Given the description of an element on the screen output the (x, y) to click on. 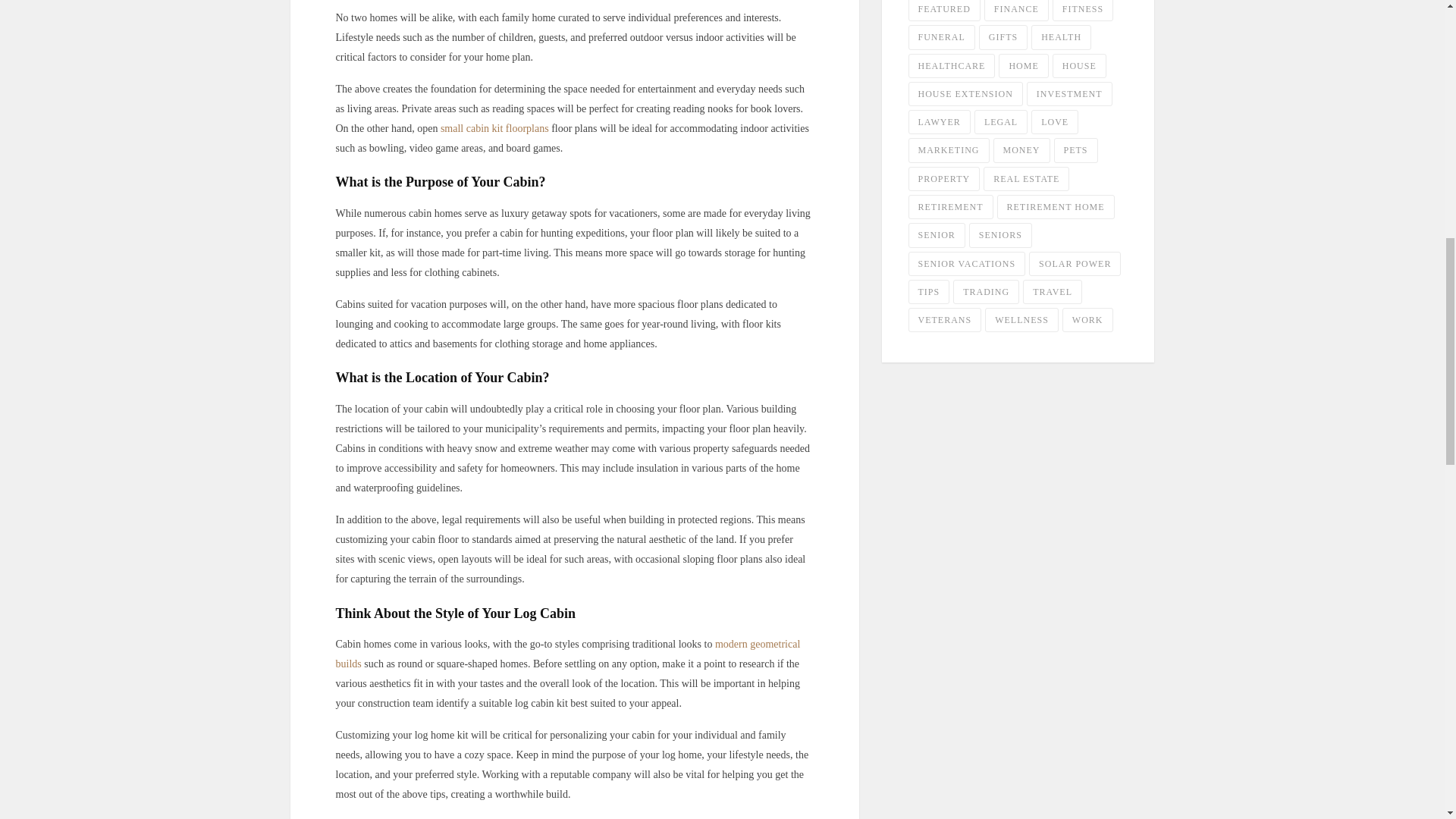
small cabin kit floorplans (494, 128)
modern geometrical builds (566, 653)
